Given the description of an element on the screen output the (x, y) to click on. 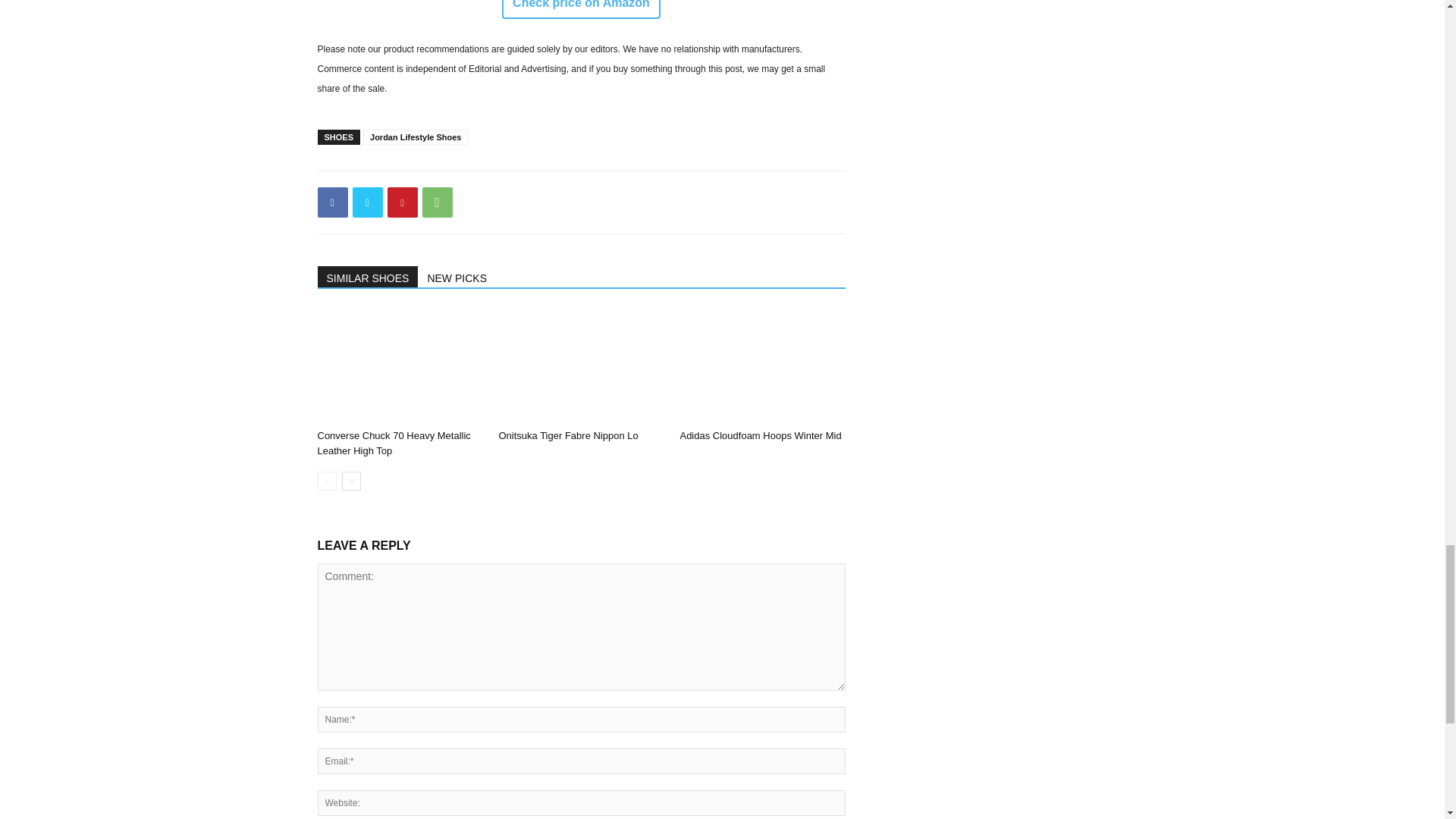
Facebook (332, 202)
WhatsApp (436, 202)
Pinterest (401, 202)
Twitter (366, 202)
